Given the description of an element on the screen output the (x, y) to click on. 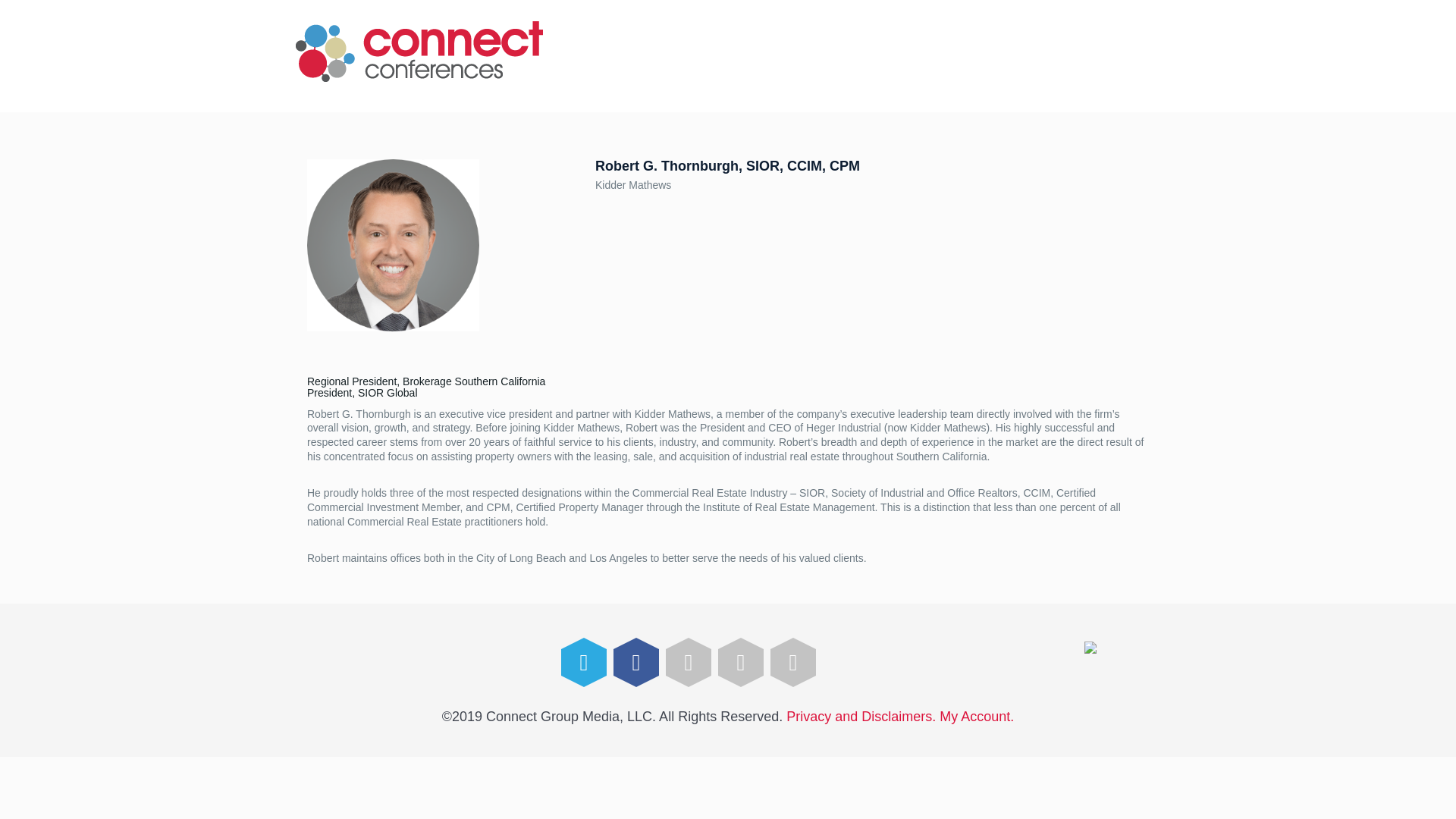
Privacy and Disclaimers. (861, 716)
My Account. (976, 716)
Connect Media (419, 51)
My Account (976, 716)
Privacy and Disclaimers (861, 716)
